Given the description of an element on the screen output the (x, y) to click on. 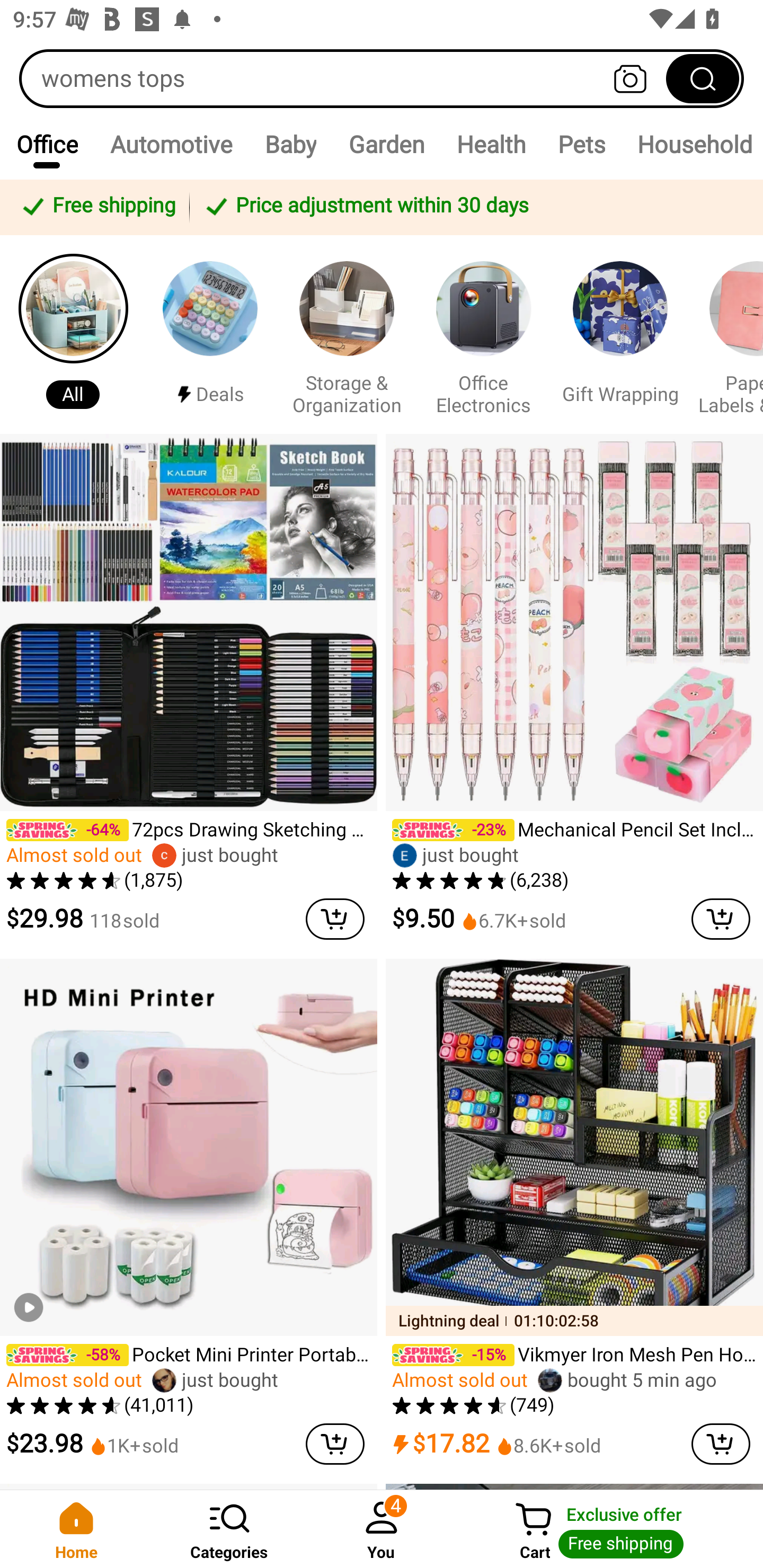
womens tops (381, 78)
Office (46, 144)
Automotive (170, 144)
Baby (289, 144)
Garden (385, 144)
Health (490, 144)
Pets (581, 144)
Household (692, 144)
Free shipping (97, 206)
Price adjustment within 30 days (472, 206)
All (72, 333)
￼￼Deals (209, 333)
Storage & Organization (346, 333)
Office Electronics (482, 333)
Gift Wrapping (619, 333)
cart delete (334, 918)
cart delete (720, 918)
cart delete (334, 1443)
cart delete (720, 1443)
Home (76, 1528)
Categories (228, 1528)
You 4 You (381, 1528)
Cart Cart Exclusive offer (610, 1528)
